Given the description of an element on the screen output the (x, y) to click on. 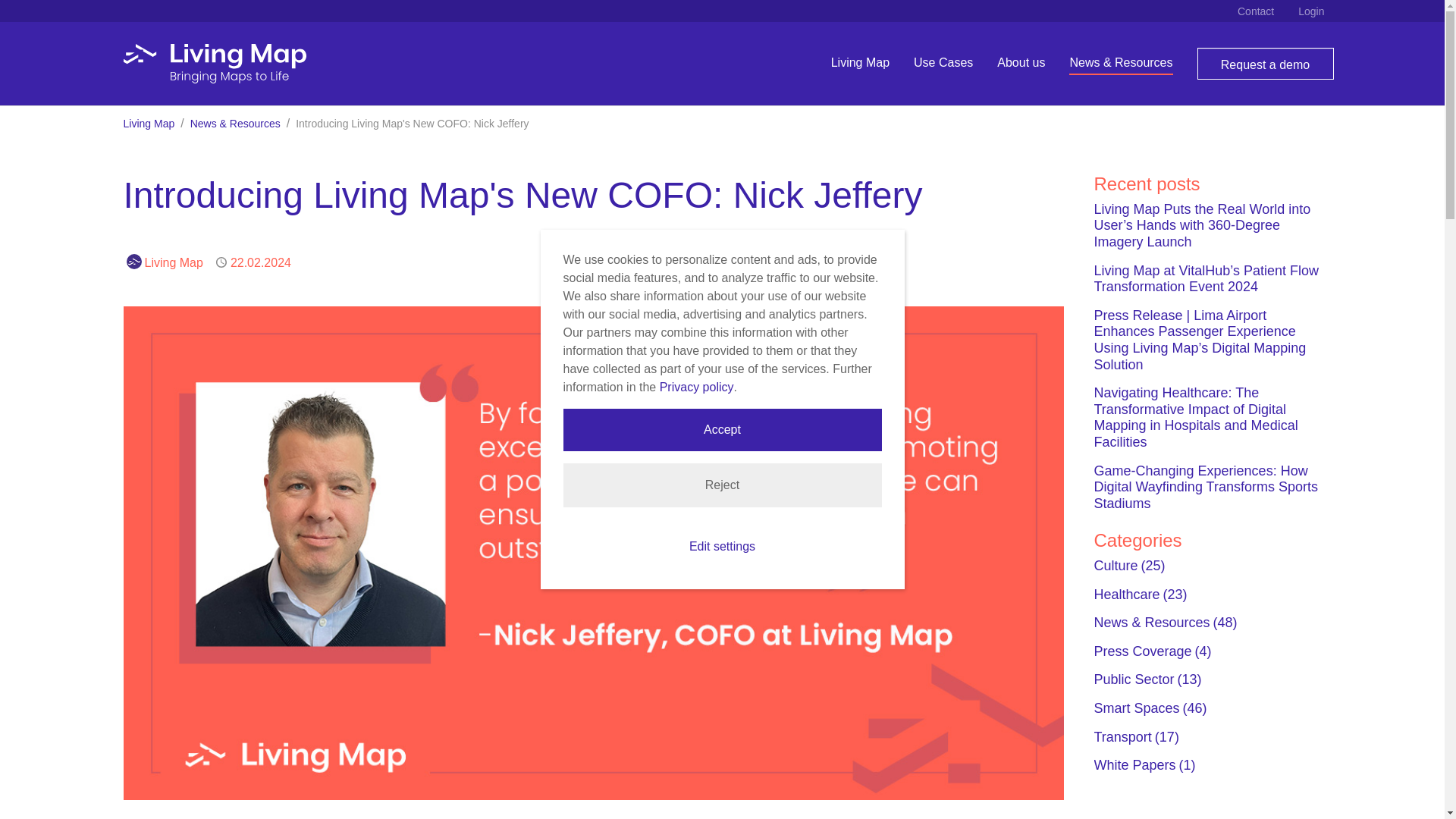
22.02.2024 (260, 262)
Login (1310, 11)
Contact (1255, 11)
Request a demo (1264, 63)
About us (1021, 62)
Use Cases (943, 62)
Living Map (859, 62)
Living Map (148, 123)
Use Cases (943, 62)
Living Map (173, 262)
Login (1310, 11)
About us (1021, 62)
Contact (1255, 11)
Living Map (213, 63)
Living Map (859, 62)
